Given the description of an element on the screen output the (x, y) to click on. 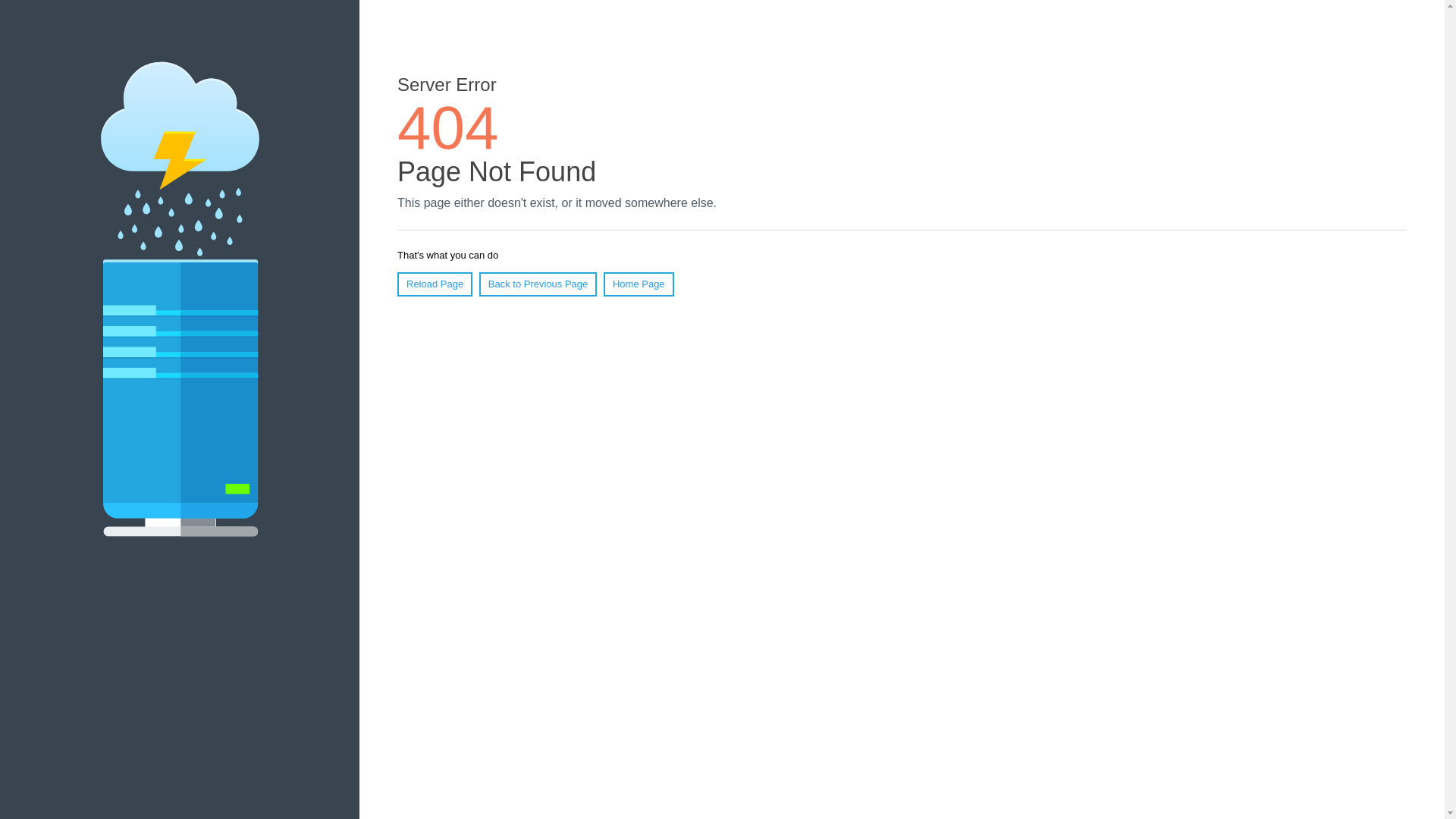
Home Page Element type: text (638, 284)
Reload Page Element type: text (434, 284)
Back to Previous Page Element type: text (538, 284)
